Given the description of an element on the screen output the (x, y) to click on. 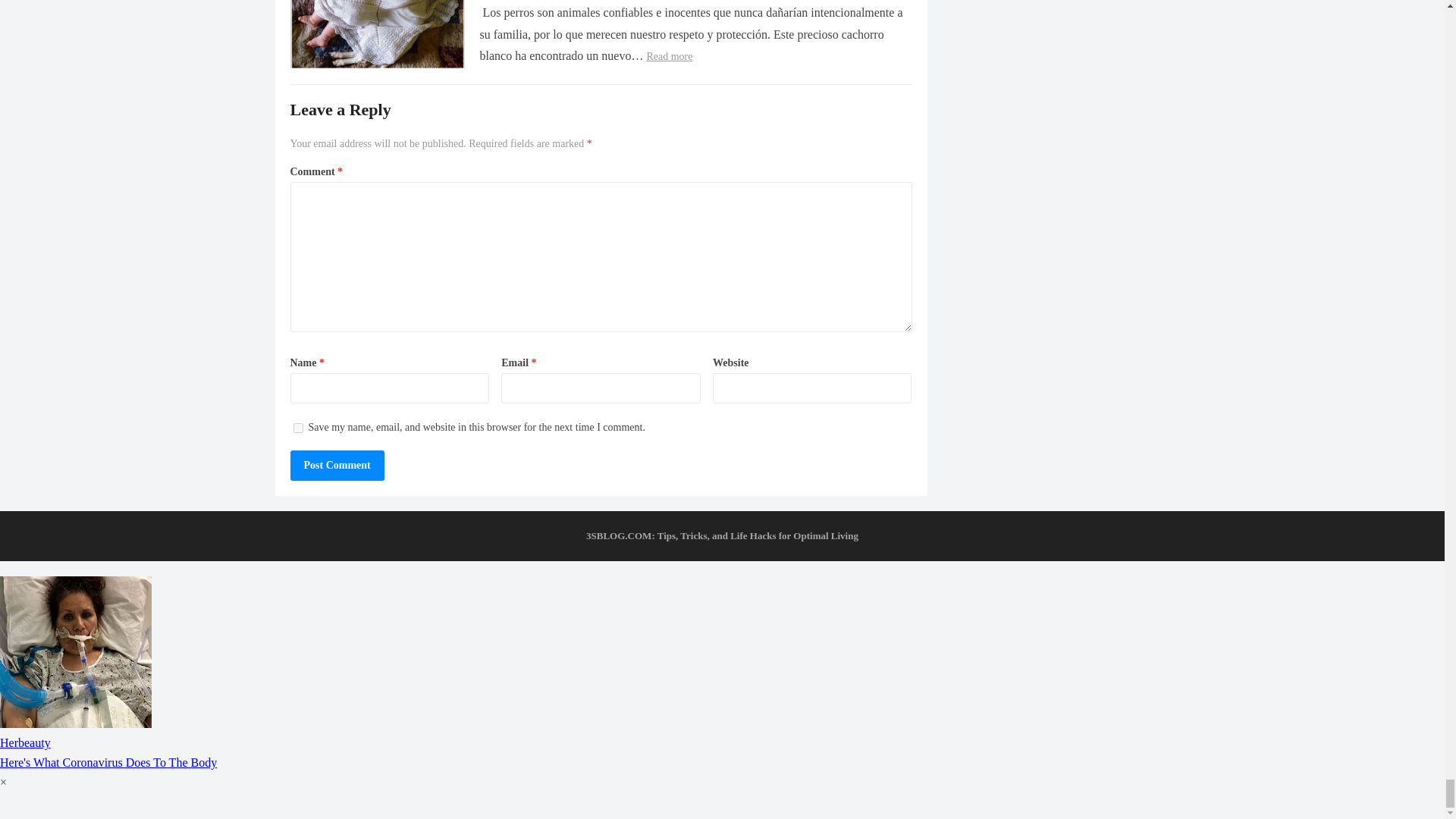
yes (297, 428)
Post Comment (336, 465)
Read more (669, 56)
Post Comment (336, 465)
